Given the description of an element on the screen output the (x, y) to click on. 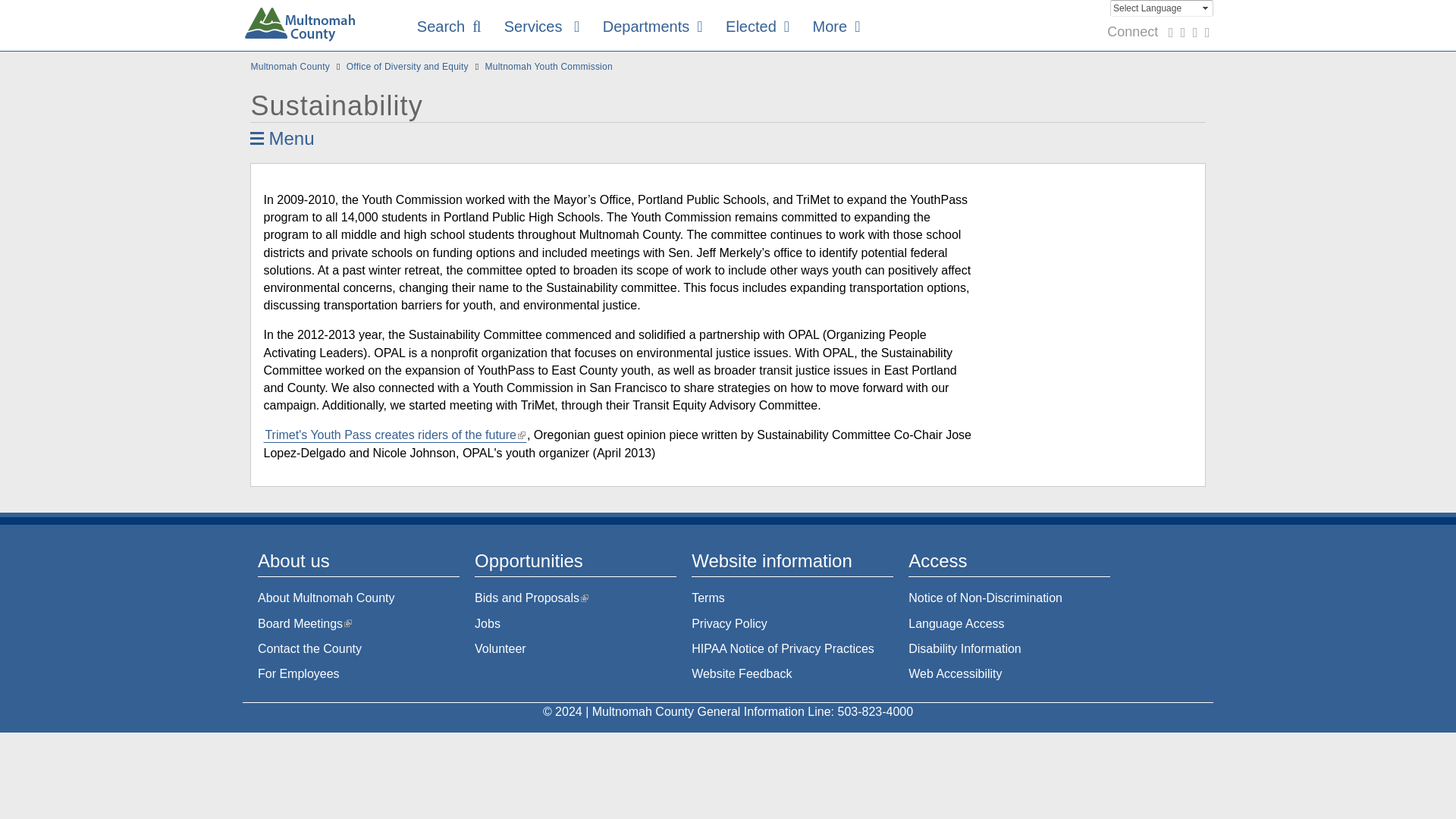
Services (542, 27)
Departments (652, 27)
Multnomah County (299, 27)
Search (449, 27)
Search (1157, 71)
Skip to main content (55, 0)
